Given the description of an element on the screen output the (x, y) to click on. 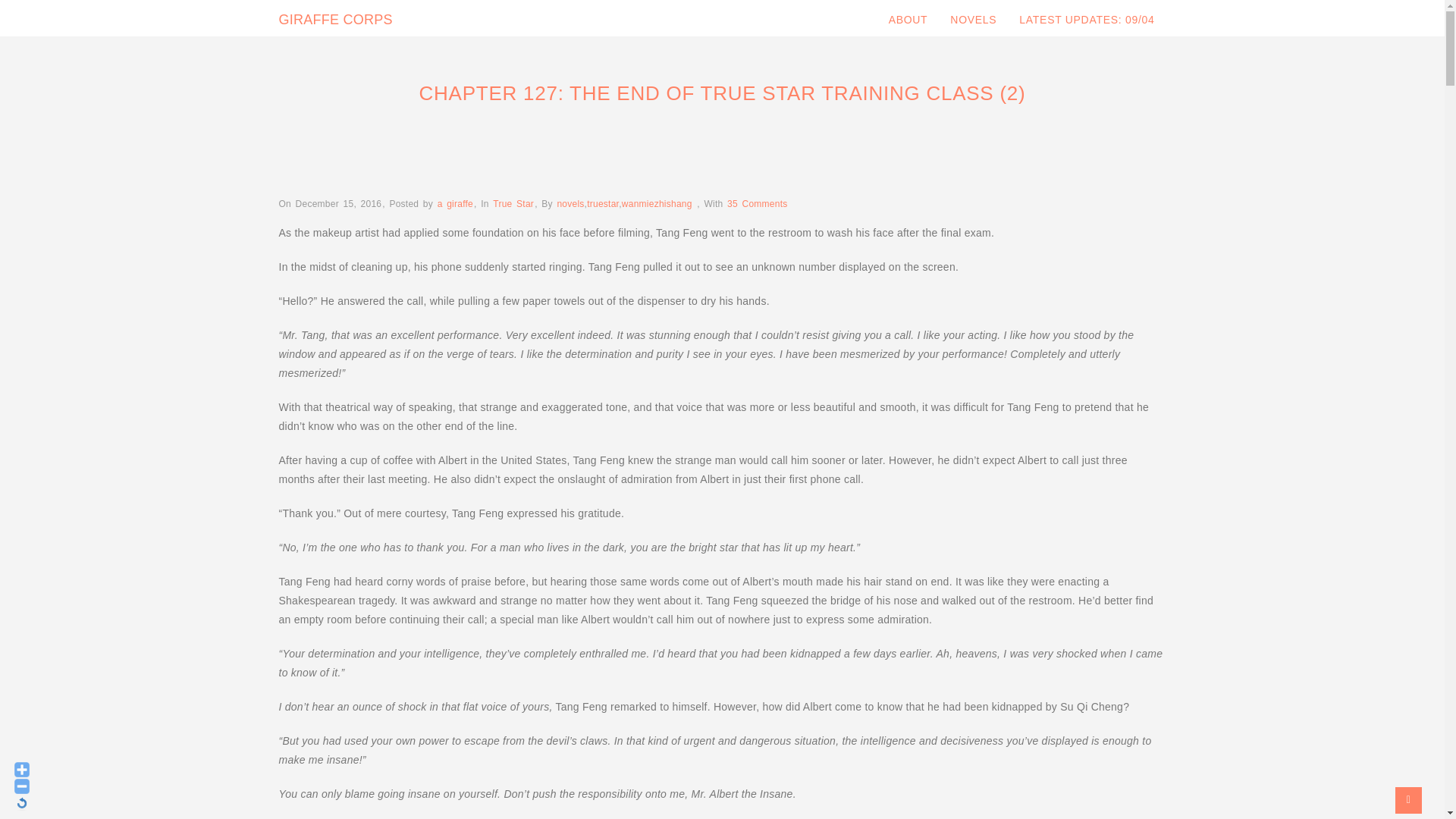
GIRAFFE CORPS (336, 19)
NOVELS (973, 20)
Decrease font size (21, 785)
ABOUT (908, 20)
Giraffe Corps (336, 19)
a giraffe (455, 204)
novels (569, 204)
True Star (513, 203)
Back To Top (1408, 800)
Default font size (21, 802)
